Given the description of an element on the screen output the (x, y) to click on. 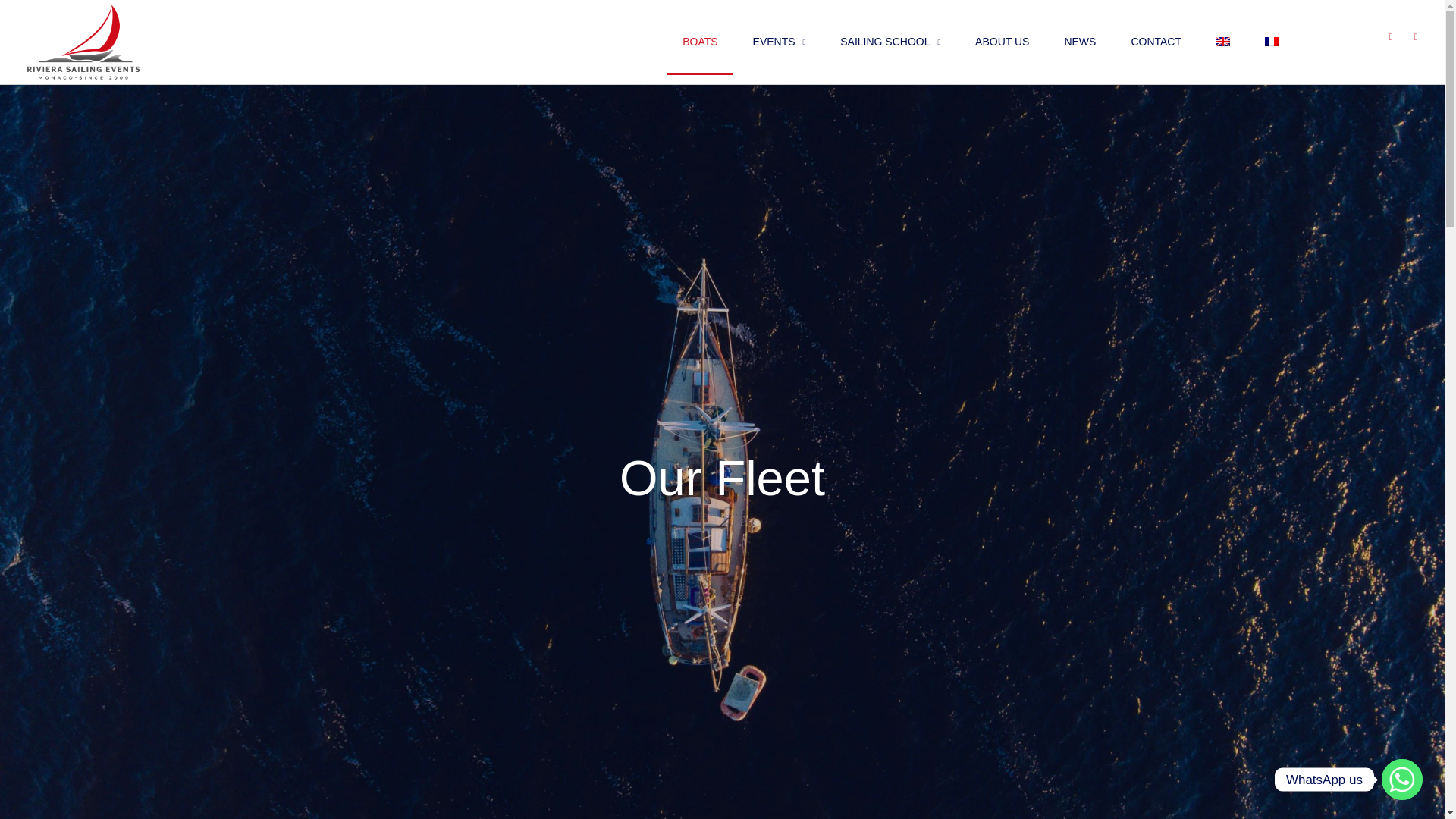
BOATS (699, 41)
ABOUT US (1001, 41)
CONTACT (1155, 41)
NEWS (1079, 41)
SAILING SCHOOL (890, 41)
EVENTS (779, 41)
